Given the description of an element on the screen output the (x, y) to click on. 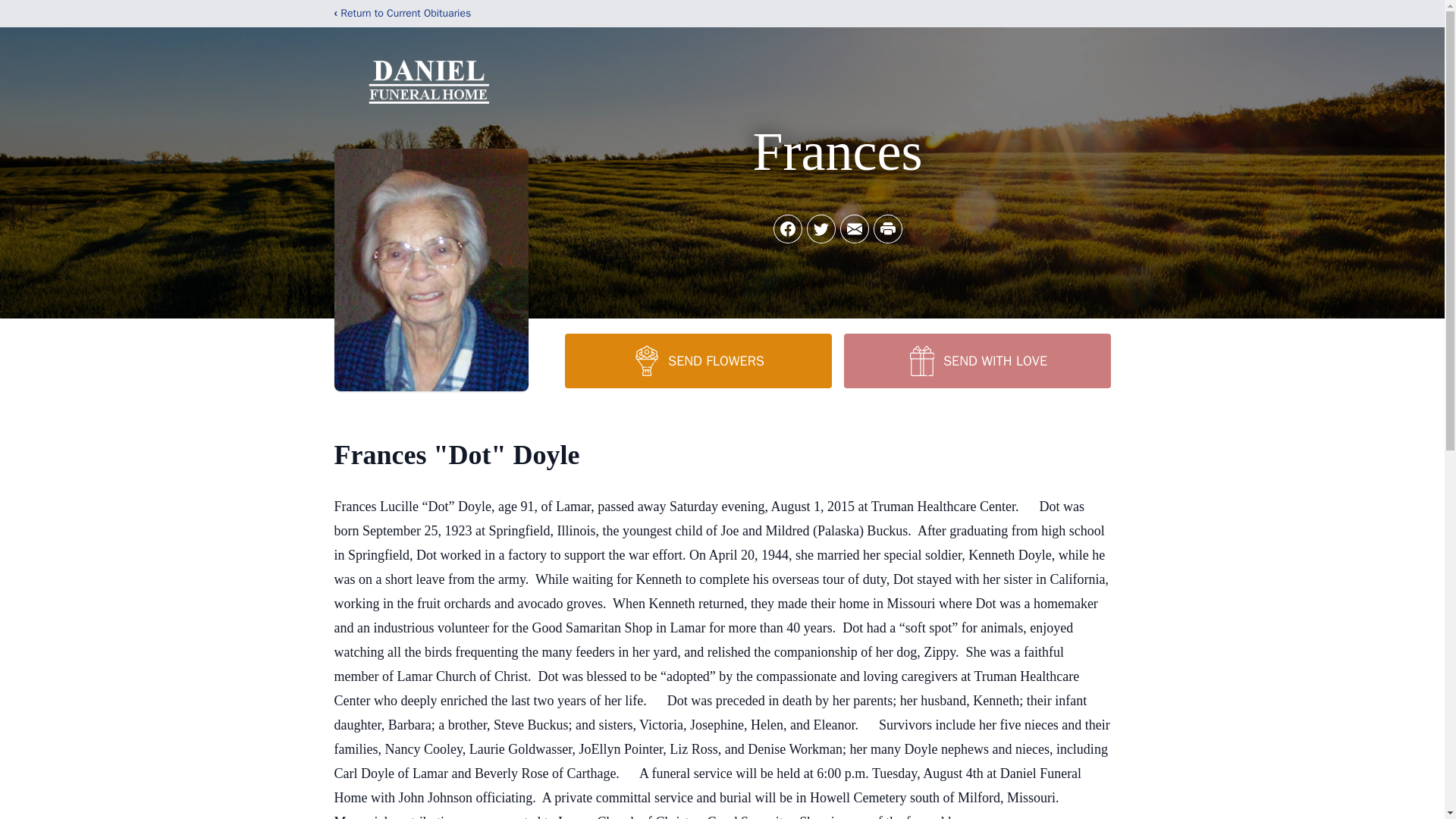
SEND FLOWERS (697, 360)
SEND WITH LOVE (976, 360)
